Given the description of an element on the screen output the (x, y) to click on. 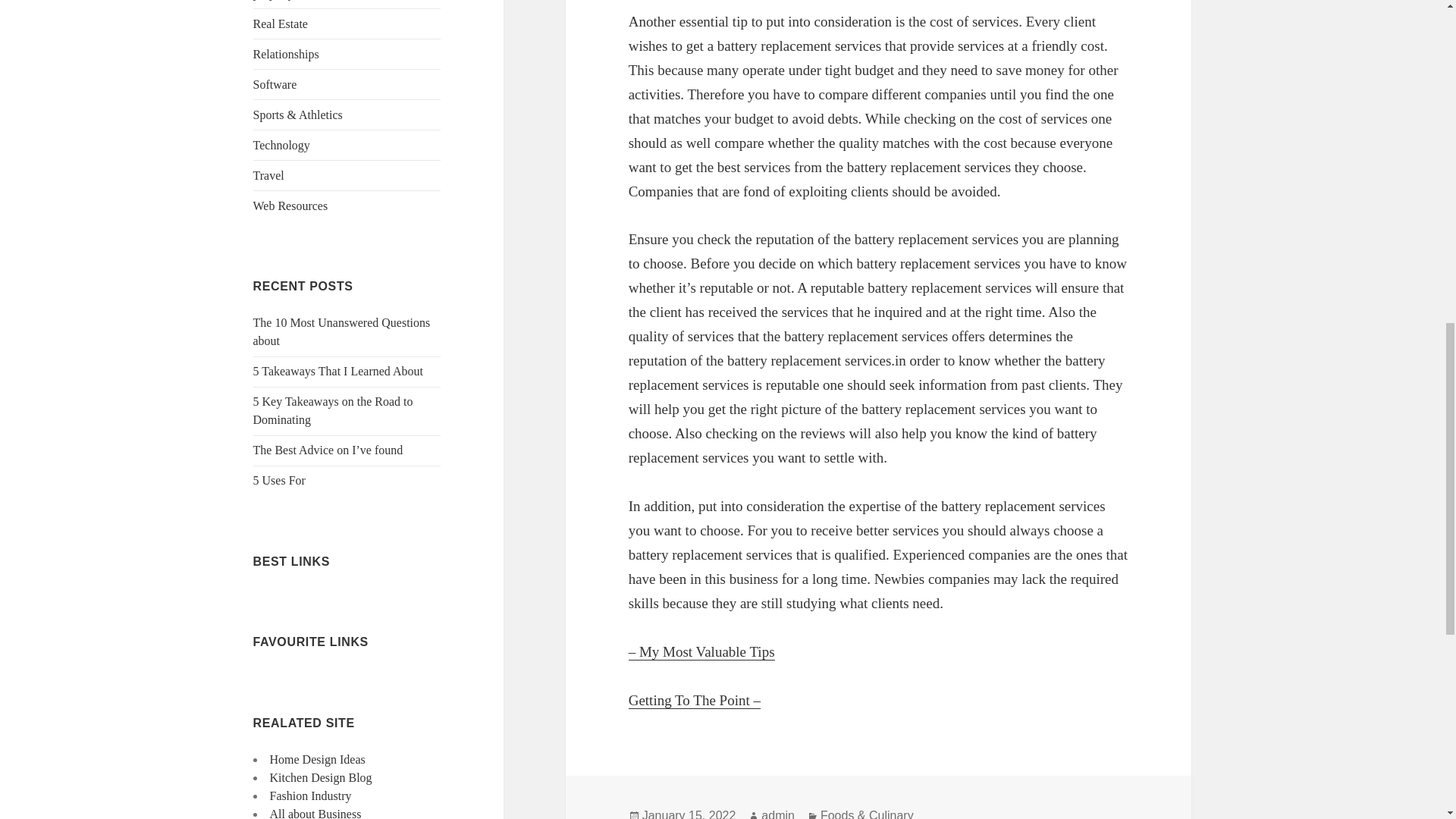
Technology (281, 144)
Relationships (285, 53)
Real Estate (280, 23)
Home Design Ideas (317, 758)
5 Takeaways That I Learned About (338, 370)
All about Business (315, 813)
Software (275, 83)
5 Key Takeaways on the Road to Dominating (333, 409)
Fashion Industry (310, 795)
5 Uses For (279, 480)
Kitchen Design Blog (320, 777)
Web Resources (291, 205)
The 10 Most Unanswered Questions about (341, 331)
Travel (268, 174)
